Given the description of an element on the screen output the (x, y) to click on. 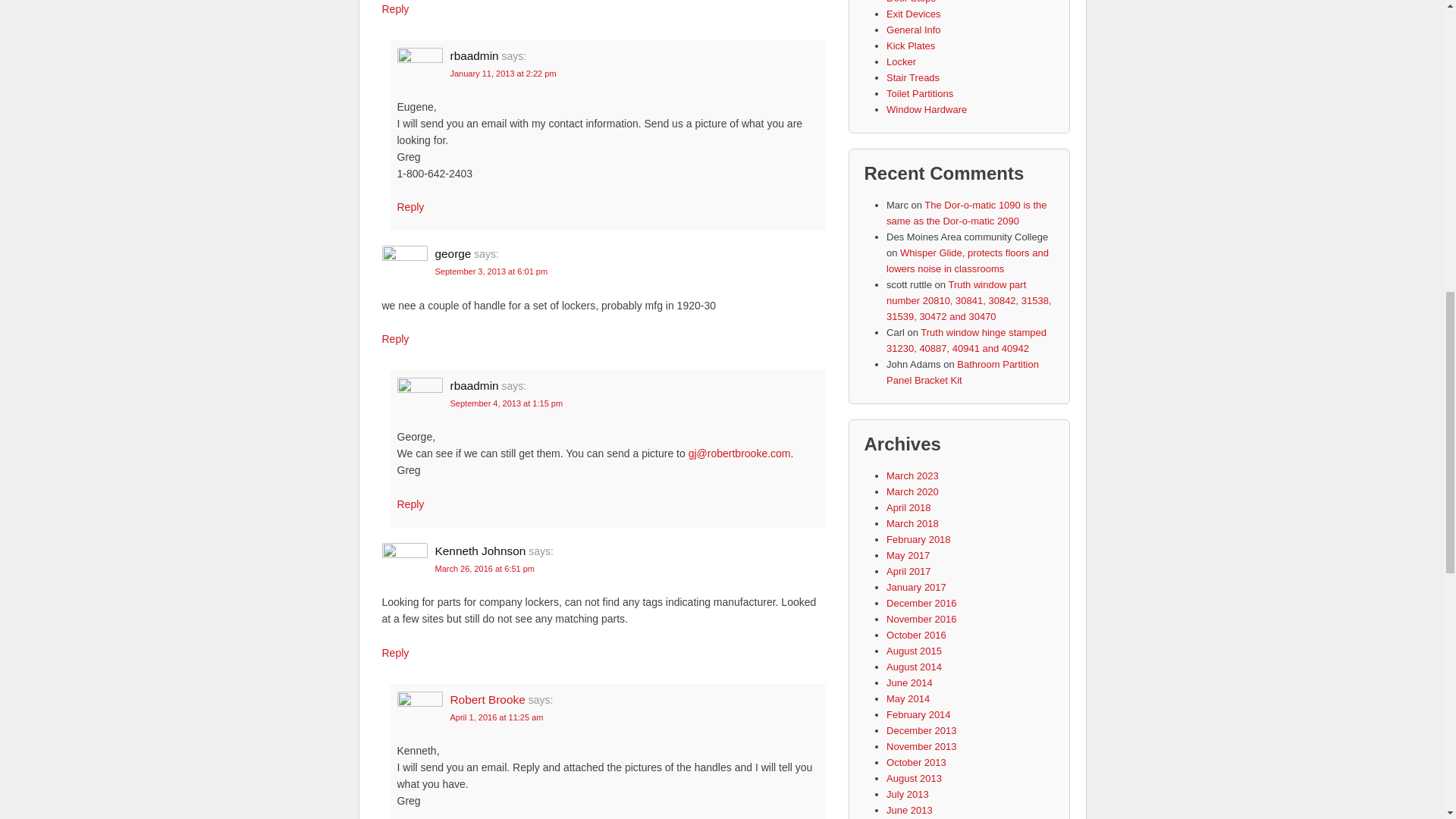
September 4, 2013 at 1:15 pm (506, 402)
September 3, 2013 at 6:01 pm (491, 271)
Reply (395, 653)
Reply (395, 338)
Reply (395, 9)
Reply (411, 503)
January 11, 2013 at 2:22 pm (502, 72)
Reply (411, 206)
March 26, 2016 at 6:51 pm (484, 568)
